Given the description of an element on the screen output the (x, y) to click on. 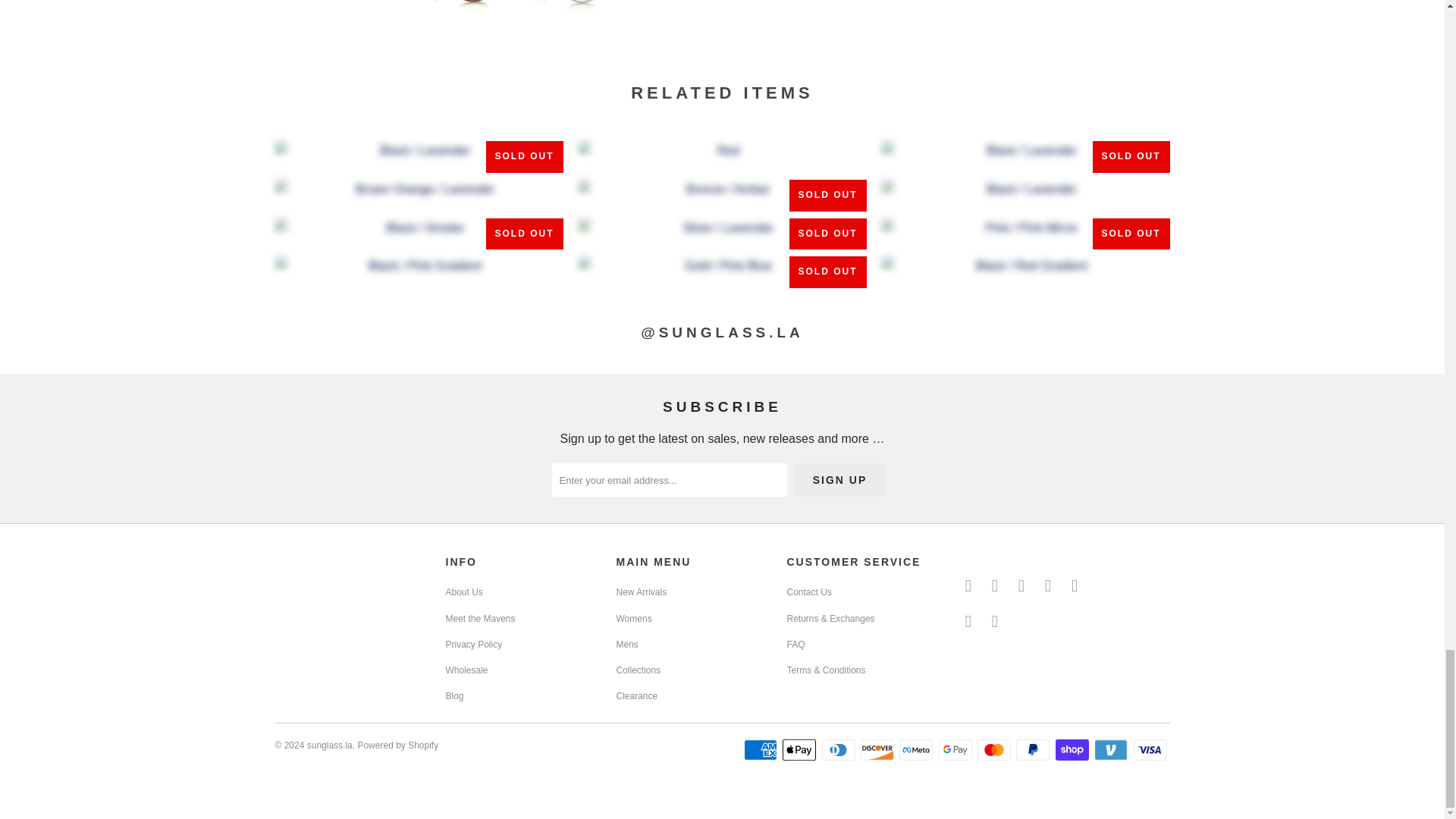
Venmo (1112, 749)
Shop Pay (1073, 749)
Meta Pay (917, 749)
Apple Pay (800, 749)
Sign Up (839, 479)
PayPal (1034, 749)
Mastercard (994, 749)
Diners Club (840, 749)
American Express (762, 749)
Visa (1150, 749)
Discover (878, 749)
Google Pay (957, 749)
sunglass.la on Twitter (967, 586)
sunglass.la on Facebook (995, 586)
